Given the description of an element on the screen output the (x, y) to click on. 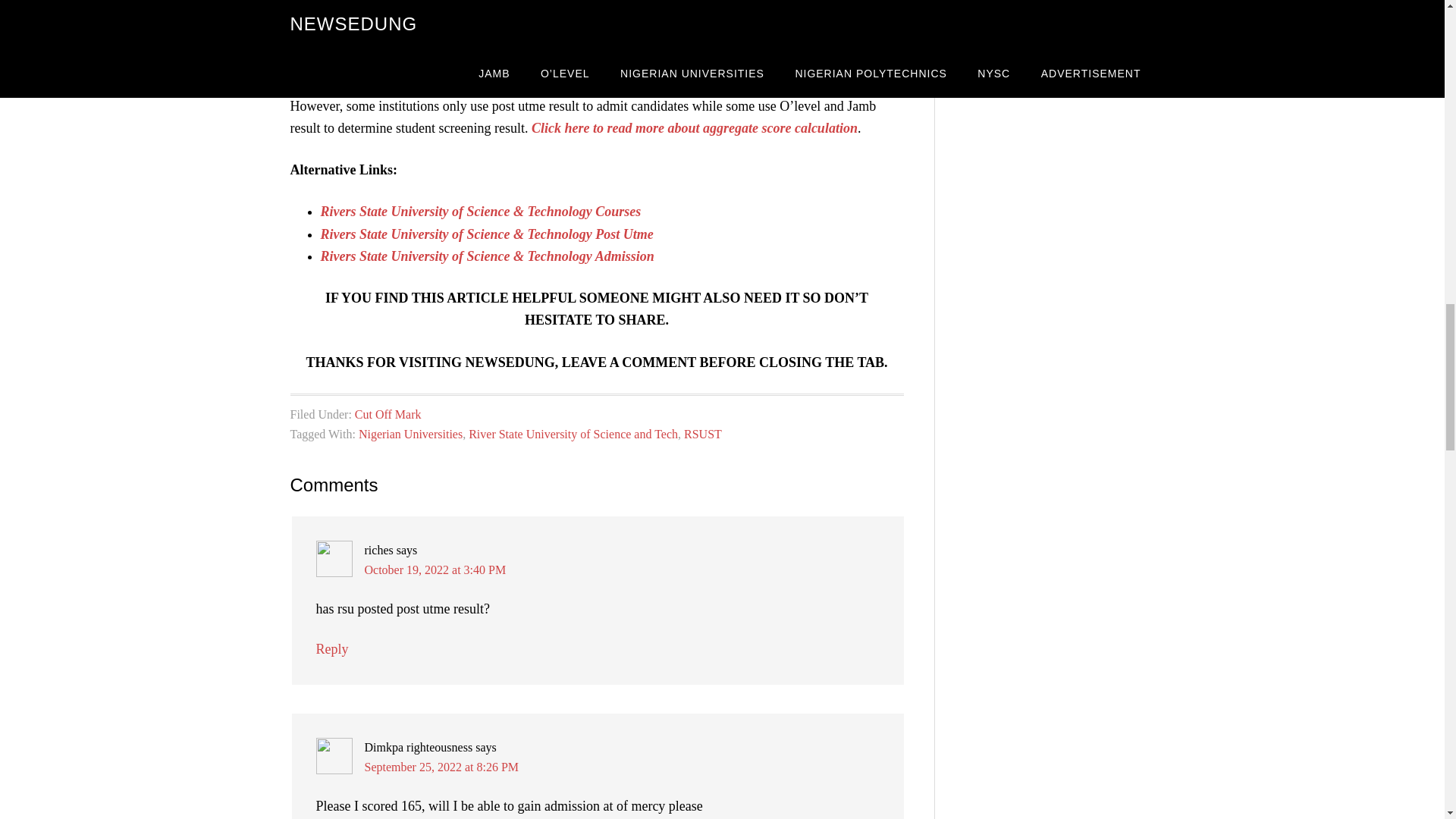
September 25, 2022 at 8:26 PM (441, 766)
Cut Off Mark (388, 413)
October 19, 2022 at 3:40 PM (434, 569)
Reply (331, 648)
Nigerian Universities (410, 433)
Click here to read more about aggregate score calculation (694, 127)
RSUST (703, 433)
River State University of Science and Tech (573, 433)
